Given the description of an element on the screen output the (x, y) to click on. 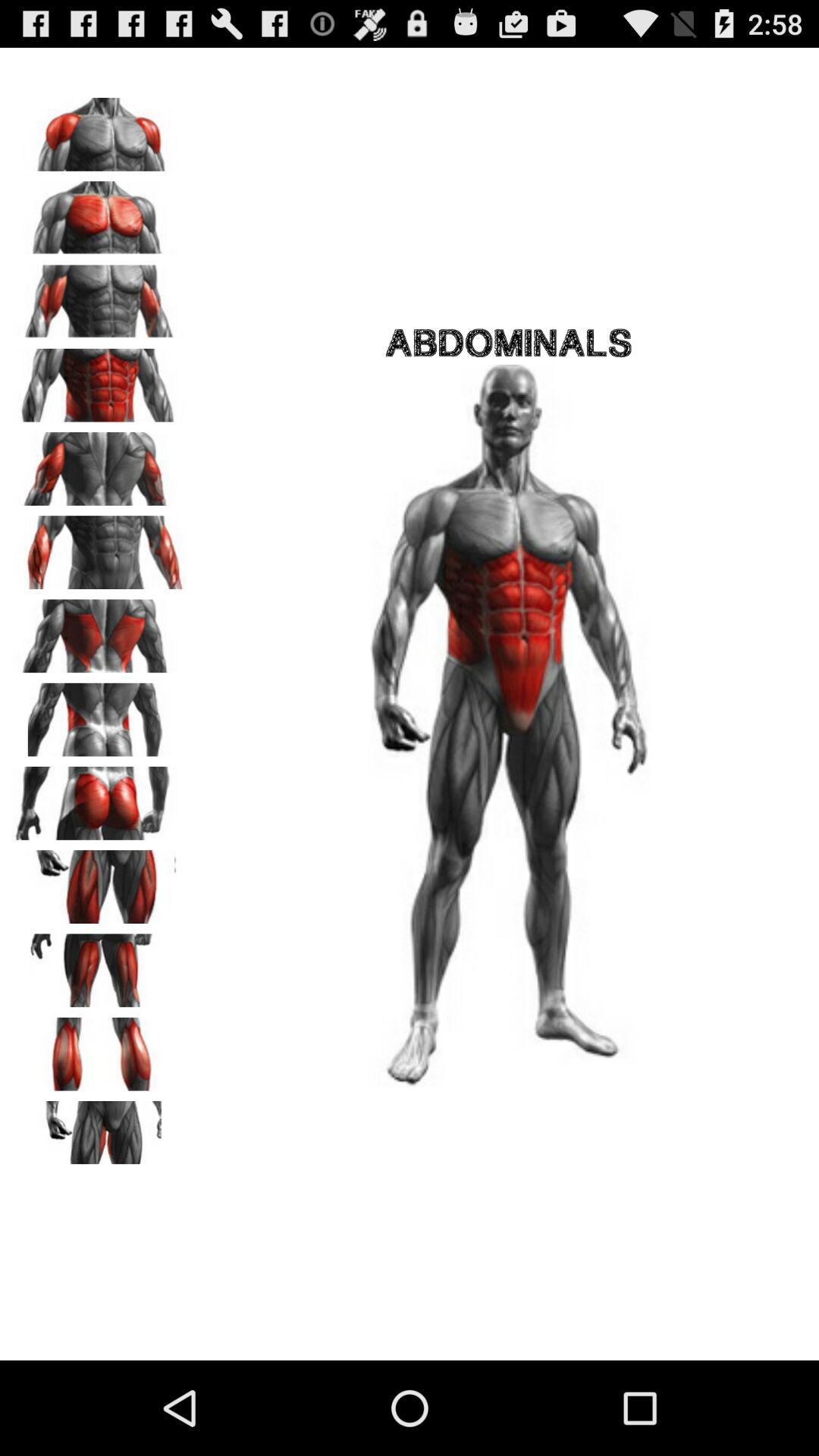
show back muscle exercises (99, 630)
